Given the description of an element on the screen output the (x, y) to click on. 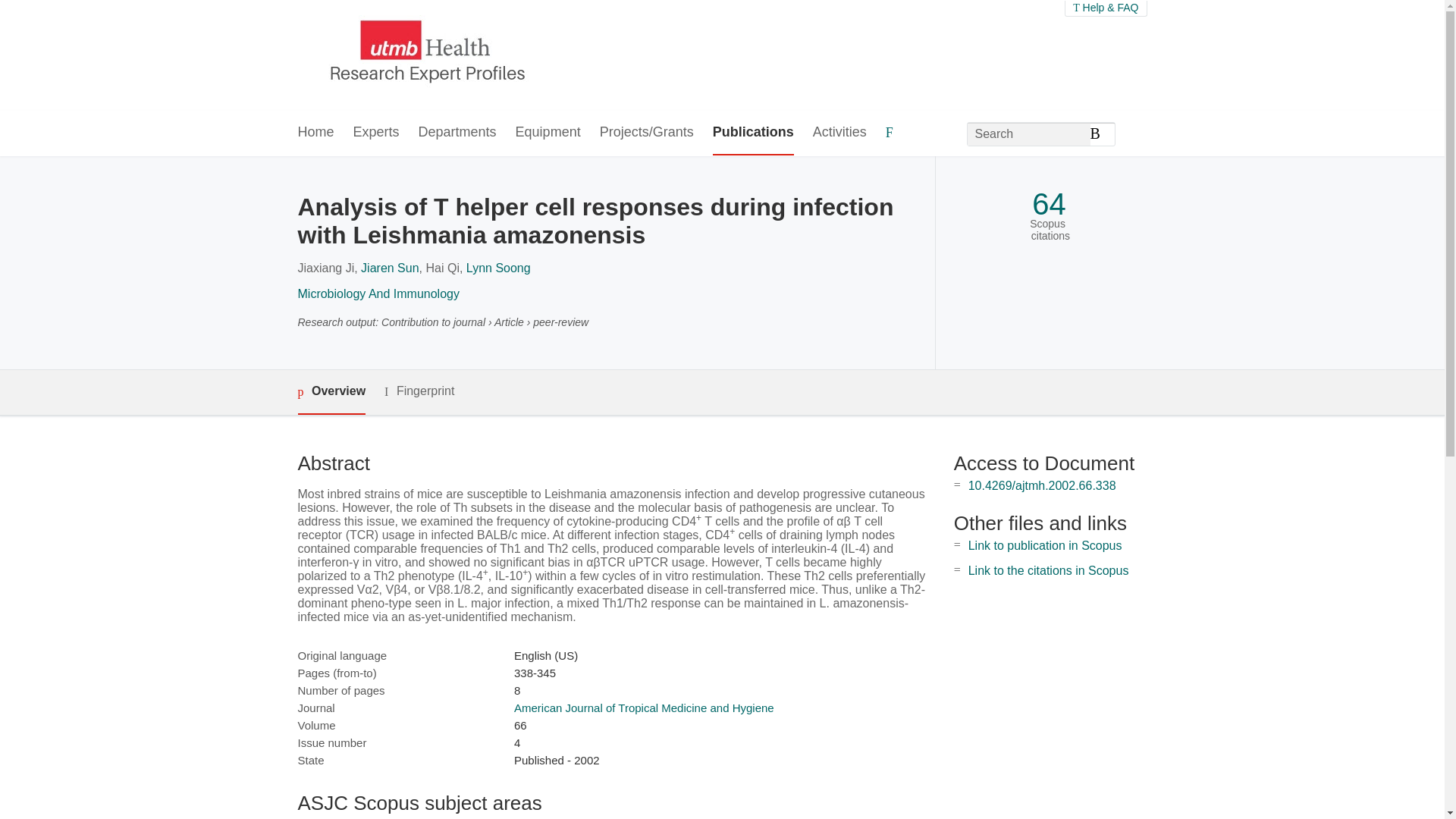
Link to the citations in Scopus (1048, 570)
UTMB Health Research Expert Profiles Home (424, 55)
Jiaren Sun (390, 267)
Fingerprint (419, 391)
Overview (331, 392)
Equipment (547, 132)
64 (1048, 203)
Activities (839, 132)
Microbiology And Immunology (377, 293)
Lynn Soong (498, 267)
Link to publication in Scopus (1045, 545)
Publications (753, 132)
Home (315, 132)
Departments (457, 132)
